Given the description of an element on the screen output the (x, y) to click on. 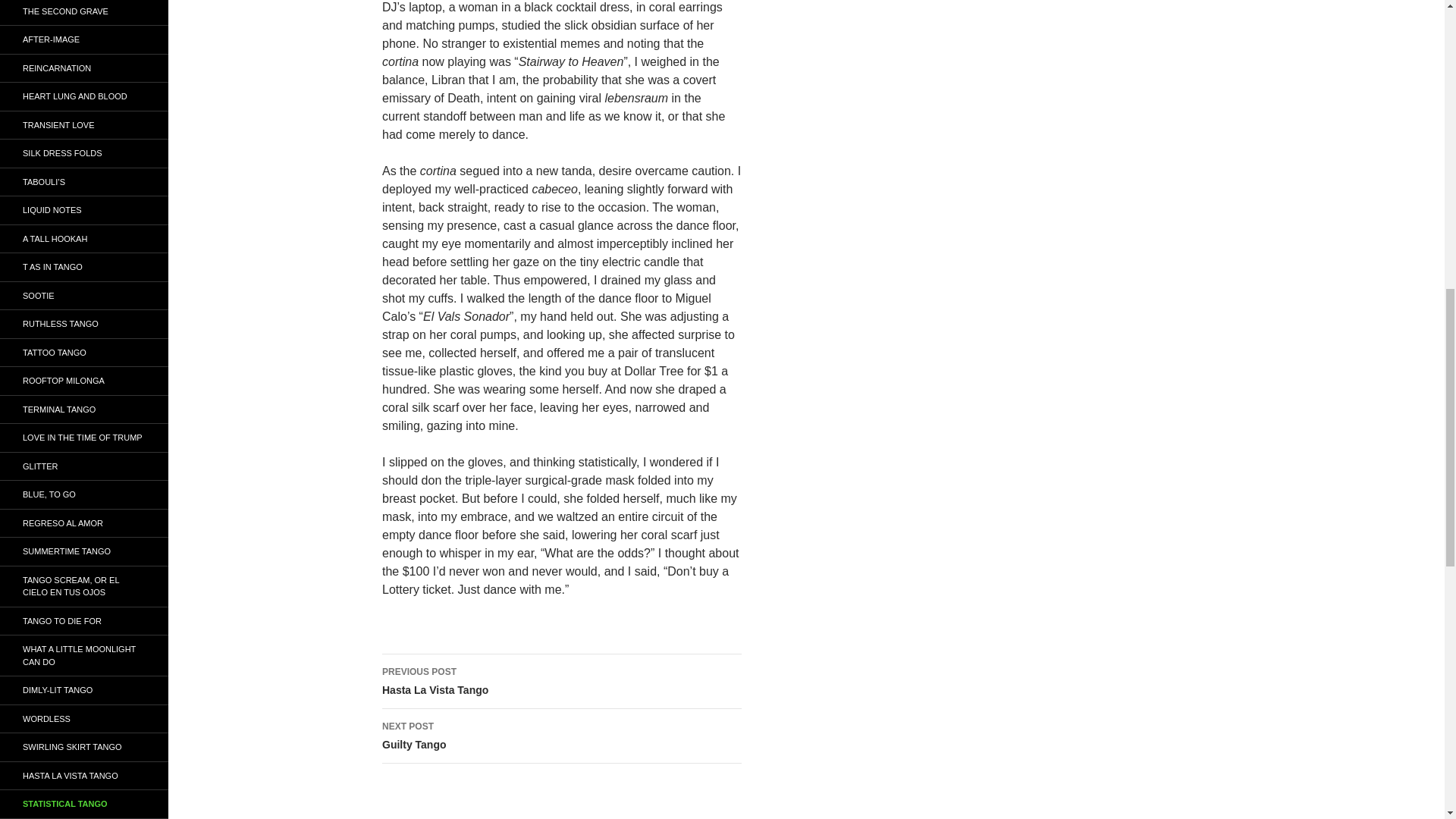
SILK DRESS FOLDS (561, 681)
THE SECOND GRAVE (84, 153)
HEART LUNG AND BLOOD (84, 12)
AFTER-IMAGE (84, 96)
TRANSIENT LOVE (561, 736)
REINCARNATION (84, 39)
